Given the description of an element on the screen output the (x, y) to click on. 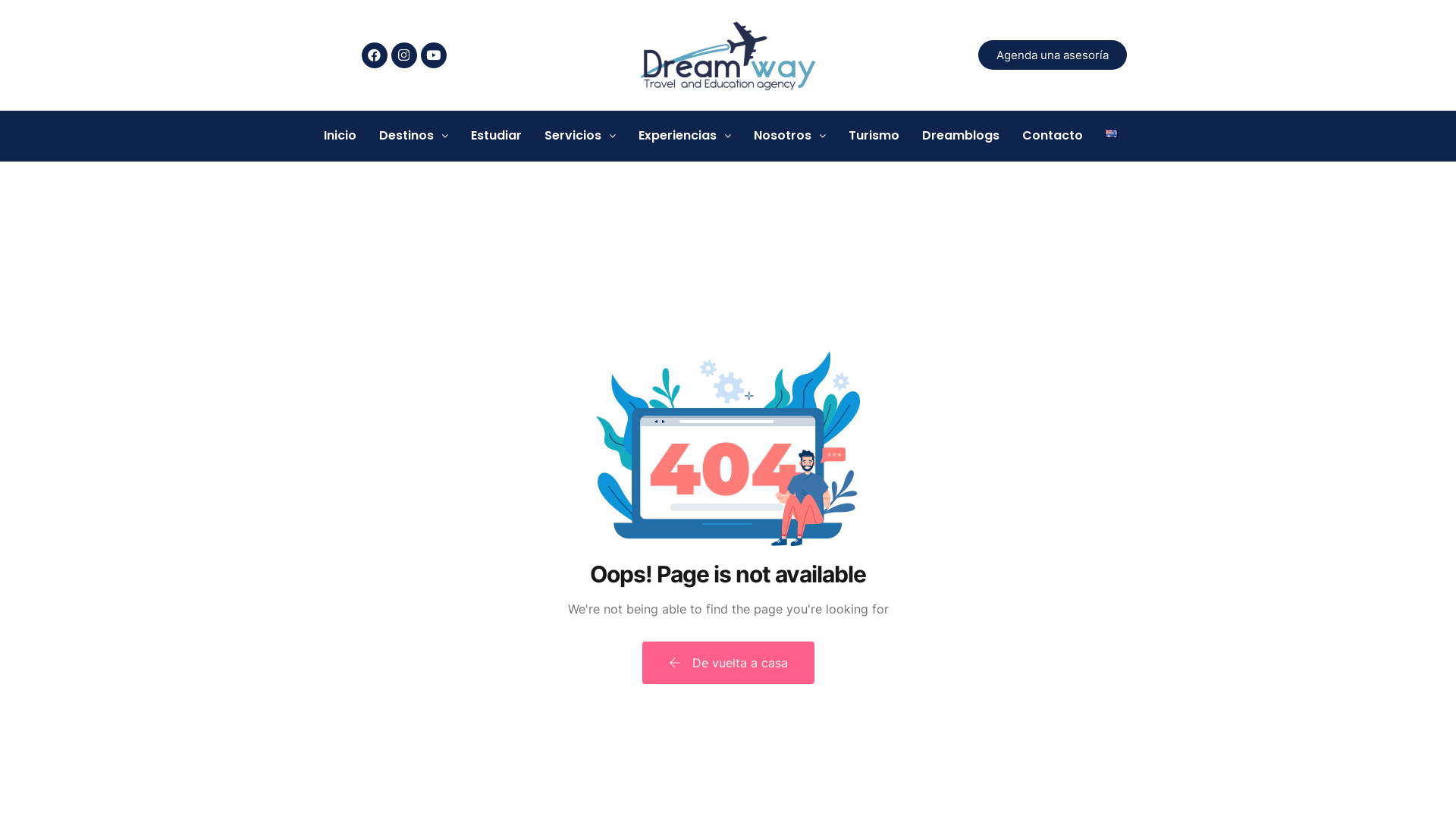
De vuelta a casa Element type: text (727, 662)
Experiencias Element type: text (684, 135)
Contacto Element type: text (1052, 135)
Destinos Element type: text (413, 135)
Inicio Element type: text (339, 135)
Estudiar Element type: text (496, 135)
Turismo Element type: text (873, 135)
Dreamblogs Element type: text (960, 135)
Servicios Element type: text (580, 135)
Nosotros Element type: text (789, 135)
